Given the description of an element on the screen output the (x, y) to click on. 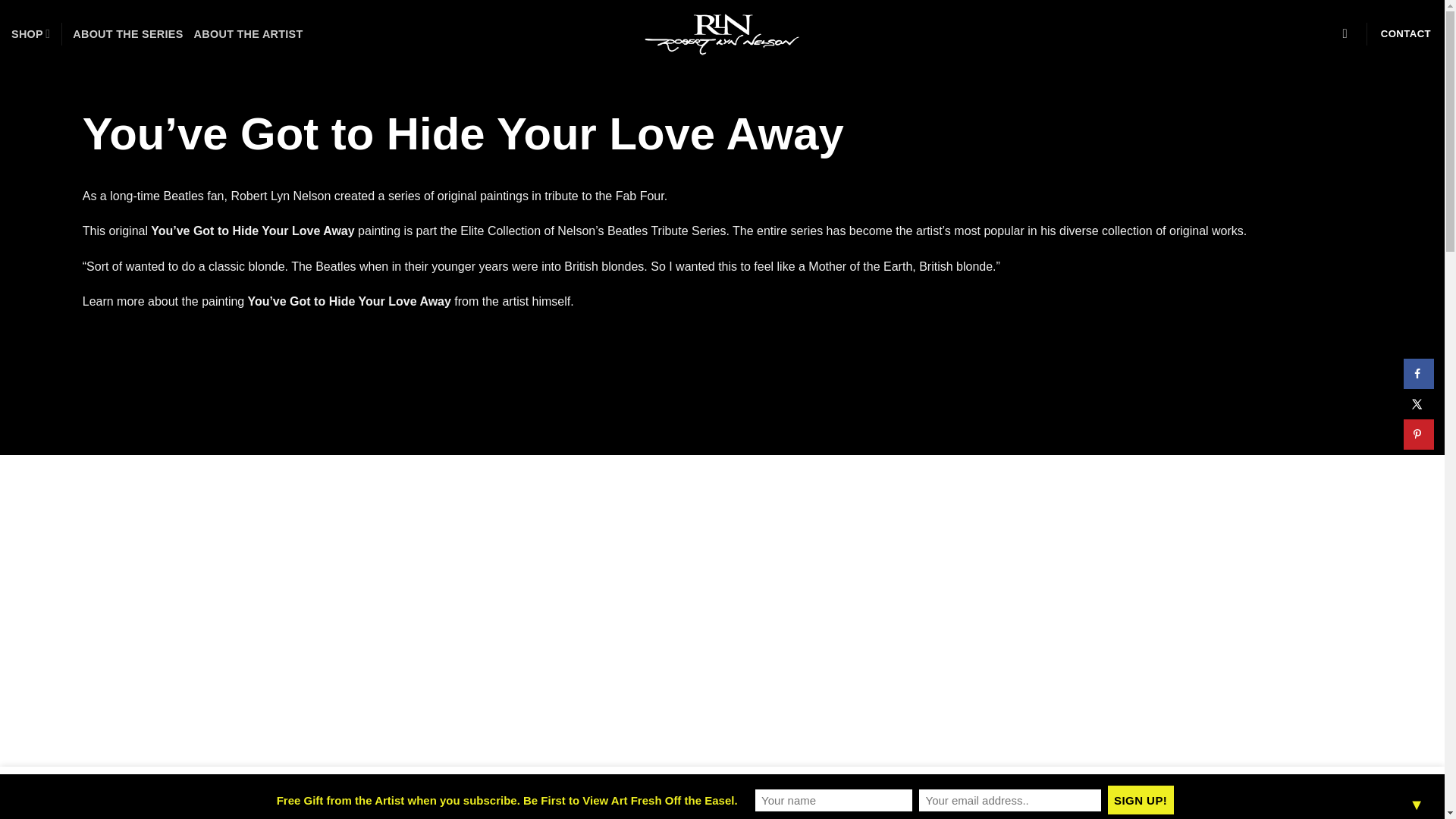
Beatles Tribute Series - Paintings by Robert Lyn Nelson (721, 34)
SHOP (30, 33)
ABOUT THE SERIES (127, 33)
Save to Pinterest (1418, 434)
Sign Up! (1140, 799)
Sign Up! (1140, 799)
Share on X (1418, 404)
CONTACT (1405, 33)
Share on Facebook (1418, 373)
ABOUT THE ARTIST (247, 33)
